Given the description of an element on the screen output the (x, y) to click on. 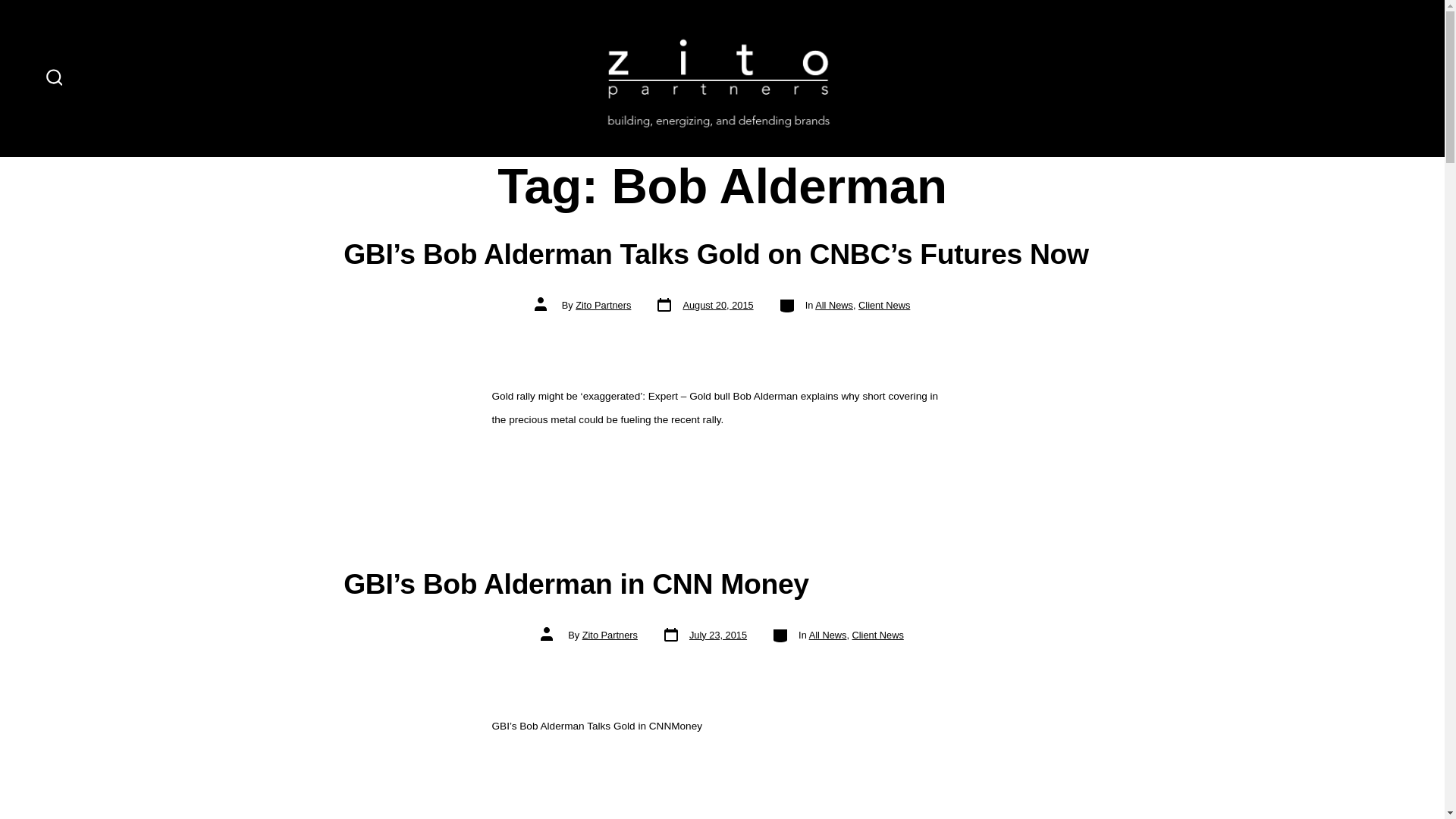
Zito Partners (609, 634)
All News (703, 305)
Zito Partners (828, 634)
All News (602, 304)
SEARCH TOGGLE (834, 304)
Client News (54, 77)
Client News (704, 635)
MENU (877, 634)
